Given the description of an element on the screen output the (x, y) to click on. 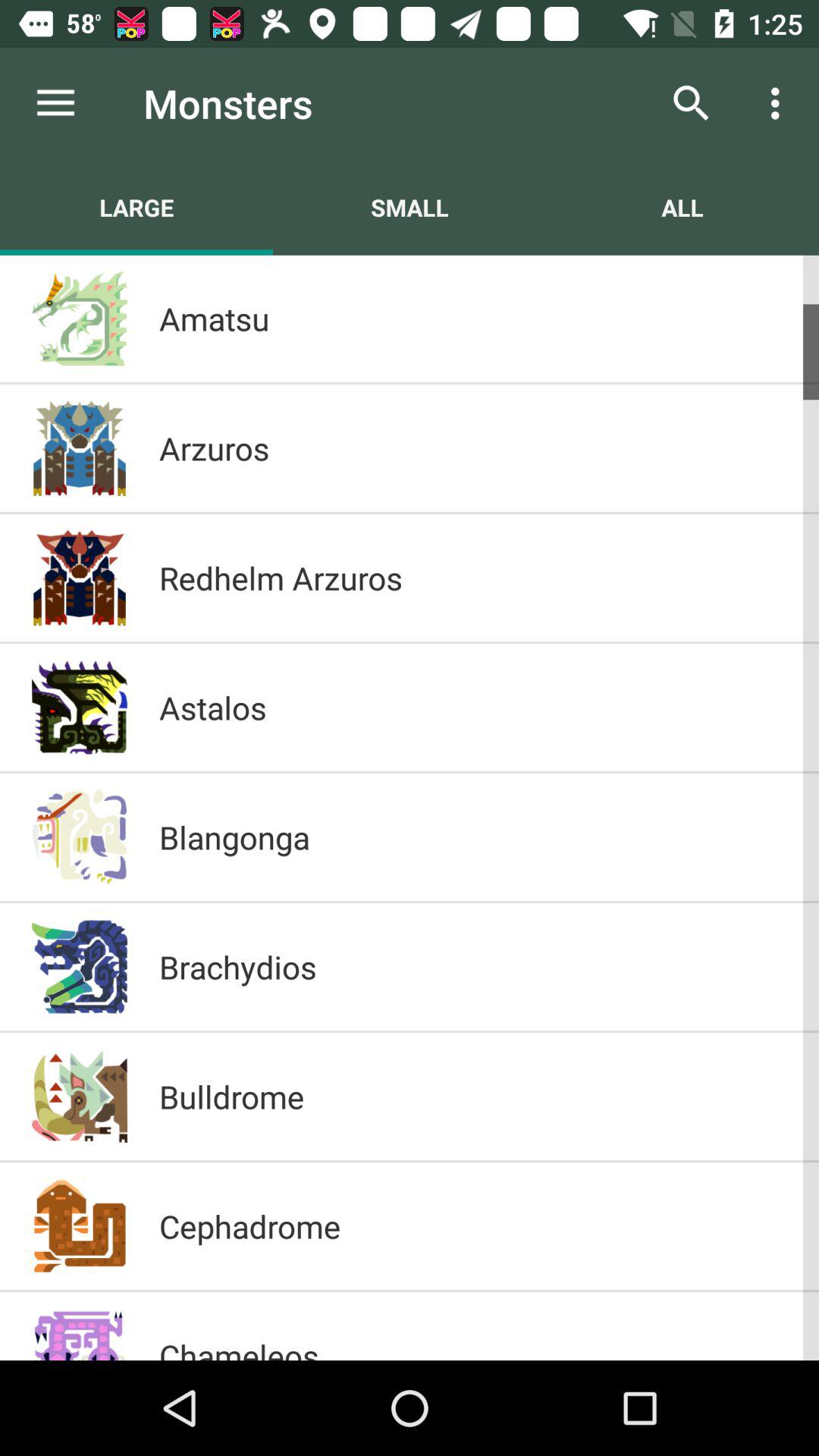
click all item (682, 207)
